Given the description of an element on the screen output the (x, y) to click on. 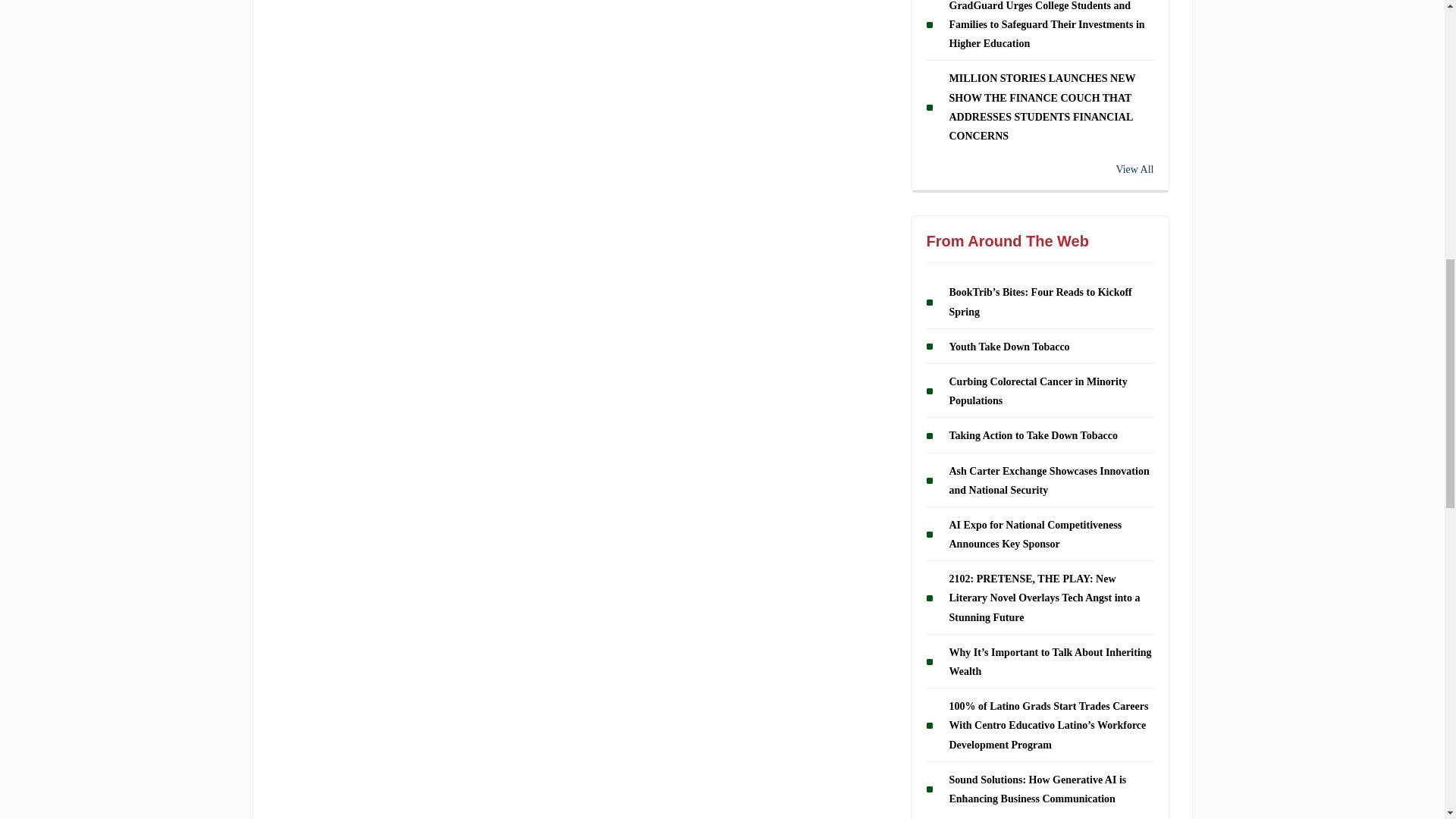
Curbing Colorectal Cancer in Minority Populations (1037, 390)
Taking Action to Take Down Tobacco (1033, 435)
AI Expo for National Competitiveness Announces Key Sponsor (1035, 534)
AI Expo for National Competitiveness Announces Key Sponsor (1035, 534)
Curbing Colorectal Cancer in Minority Populations (1037, 390)
Youth Take Down Tobacco (1009, 346)
View All (1040, 169)
Youth Take Down Tobacco (1009, 346)
